Given the description of an element on the screen output the (x, y) to click on. 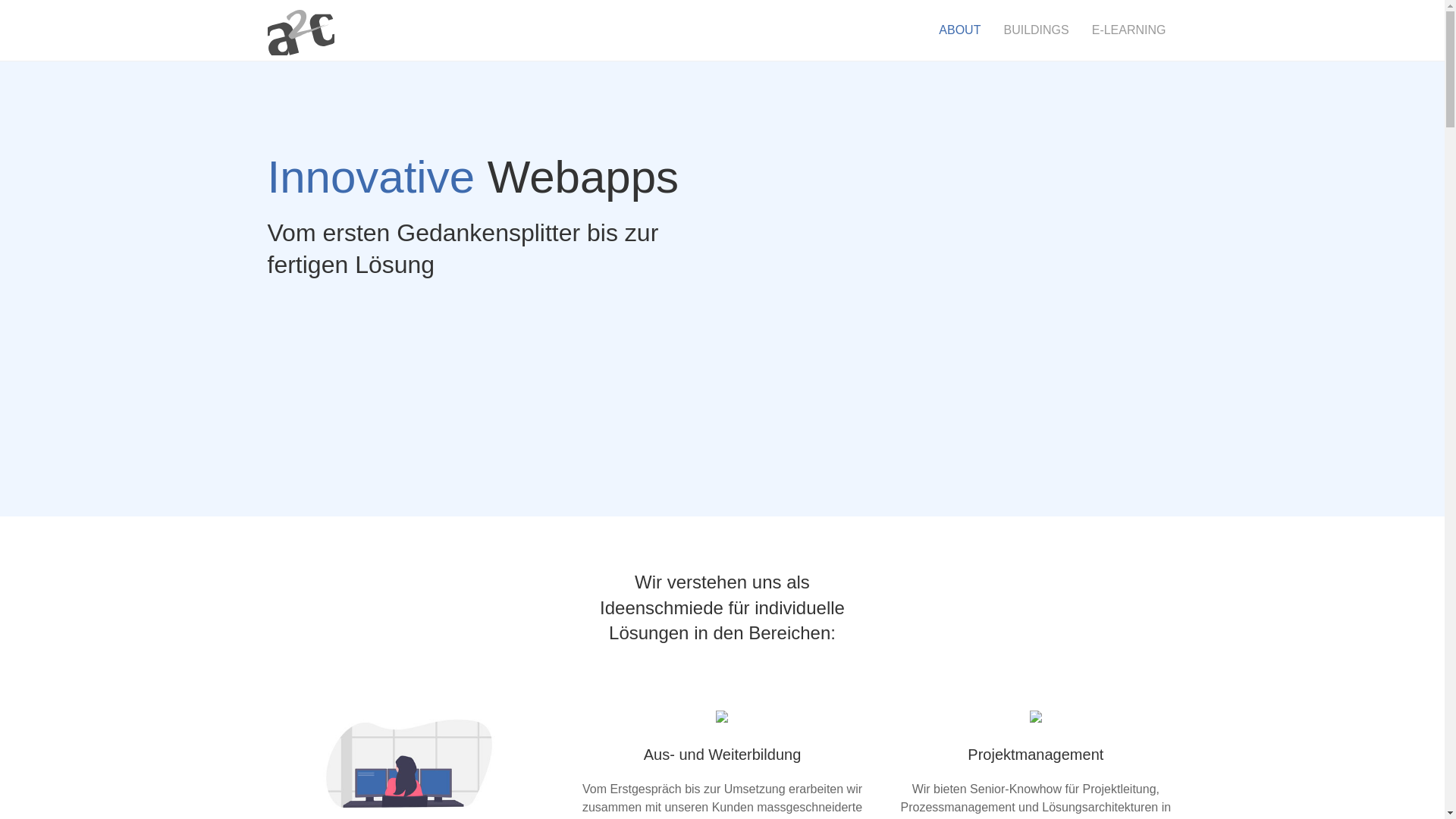
BUILDINGS Element type: text (1035, 30)
E-LEARNING Element type: text (1128, 30)
ABOUT Element type: text (959, 30)
